Given the description of an element on the screen output the (x, y) to click on. 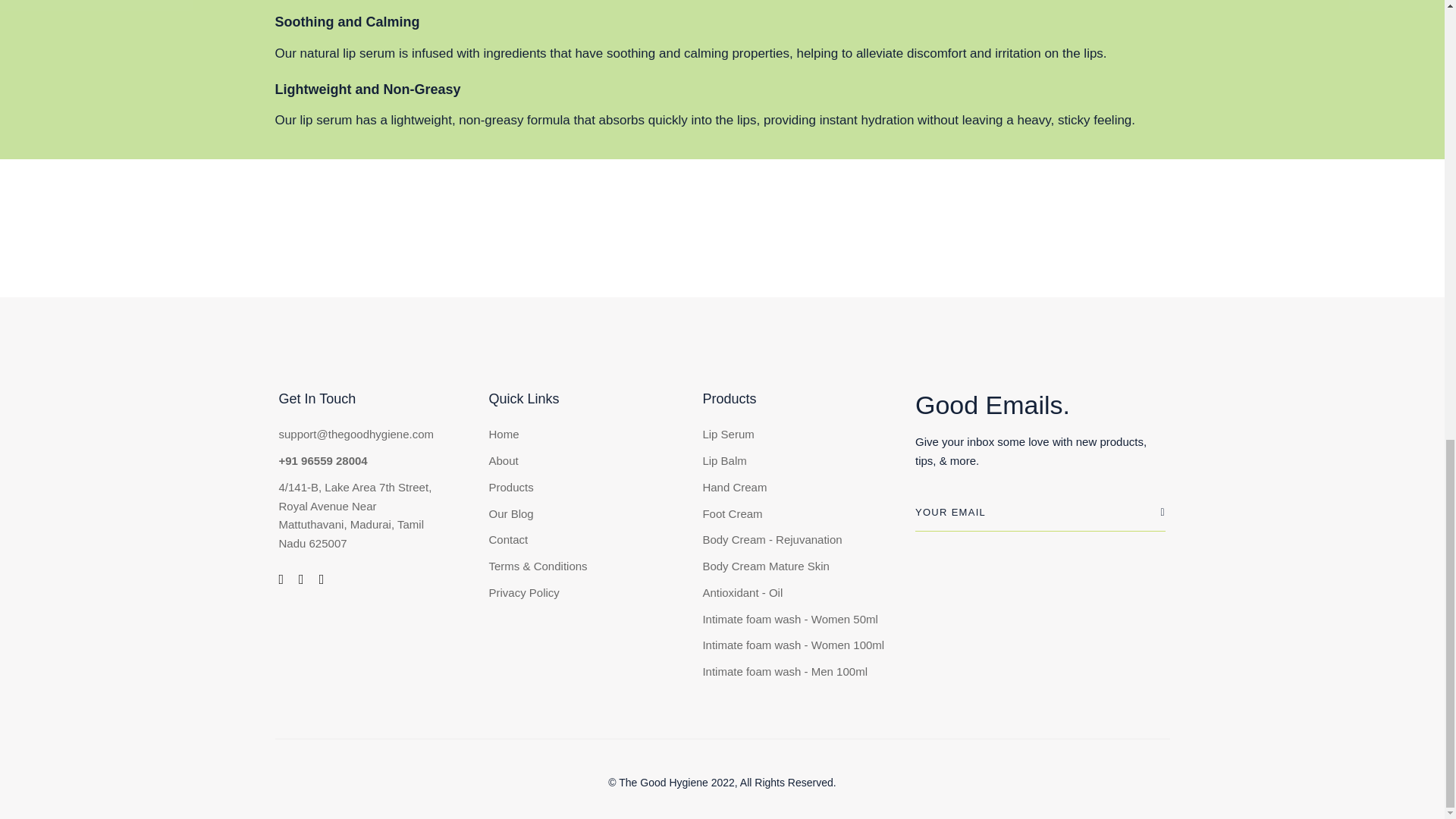
Body Cream Mature Skin (765, 566)
Foot Cream (731, 514)
Lip Serum (727, 434)
Intimate foam wash - Women 50ml (789, 619)
Intimate foam wash - Men 100ml (784, 671)
Our Blog (511, 514)
Home (504, 434)
Privacy Policy (524, 592)
About (503, 461)
Hand Cream (734, 487)
Lip Balm (723, 461)
Antioxidant - Oil (742, 592)
Intimate foam wash - Women 100ml (792, 645)
Body Cream - Rejuvanation (771, 539)
Contact (508, 539)
